Given the description of an element on the screen output the (x, y) to click on. 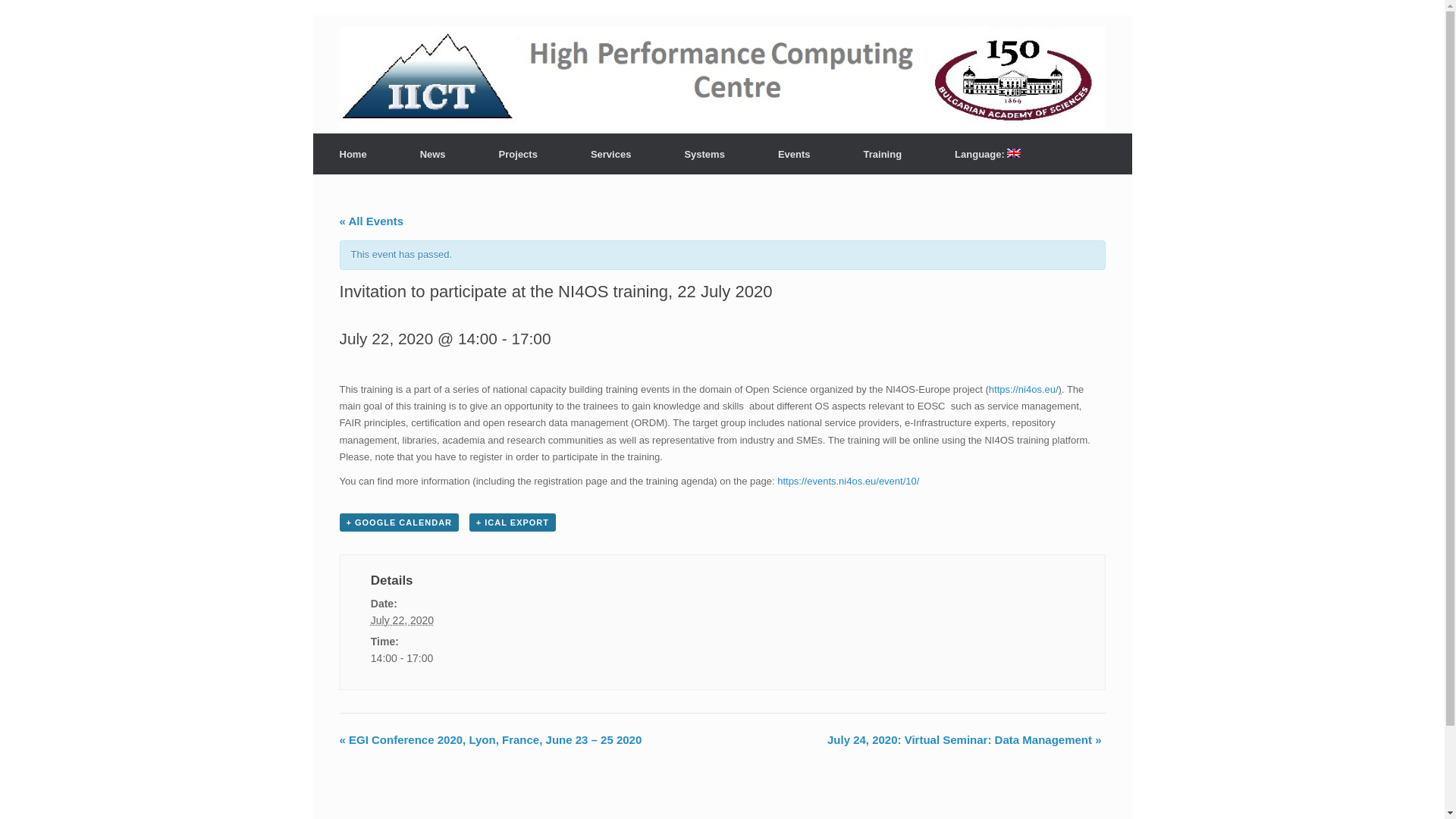
Home (353, 154)
Training (882, 154)
High performance computing Centre (558, 74)
Projects (517, 154)
High performance computing Centre (558, 74)
Add to Google Calendar (399, 522)
Language:  (987, 153)
News (432, 154)
2020-07-22 (467, 658)
English (987, 153)
Download .ics file (512, 522)
2020-07-22 (402, 620)
Systems (704, 154)
Services (611, 154)
